Given the description of an element on the screen output the (x, y) to click on. 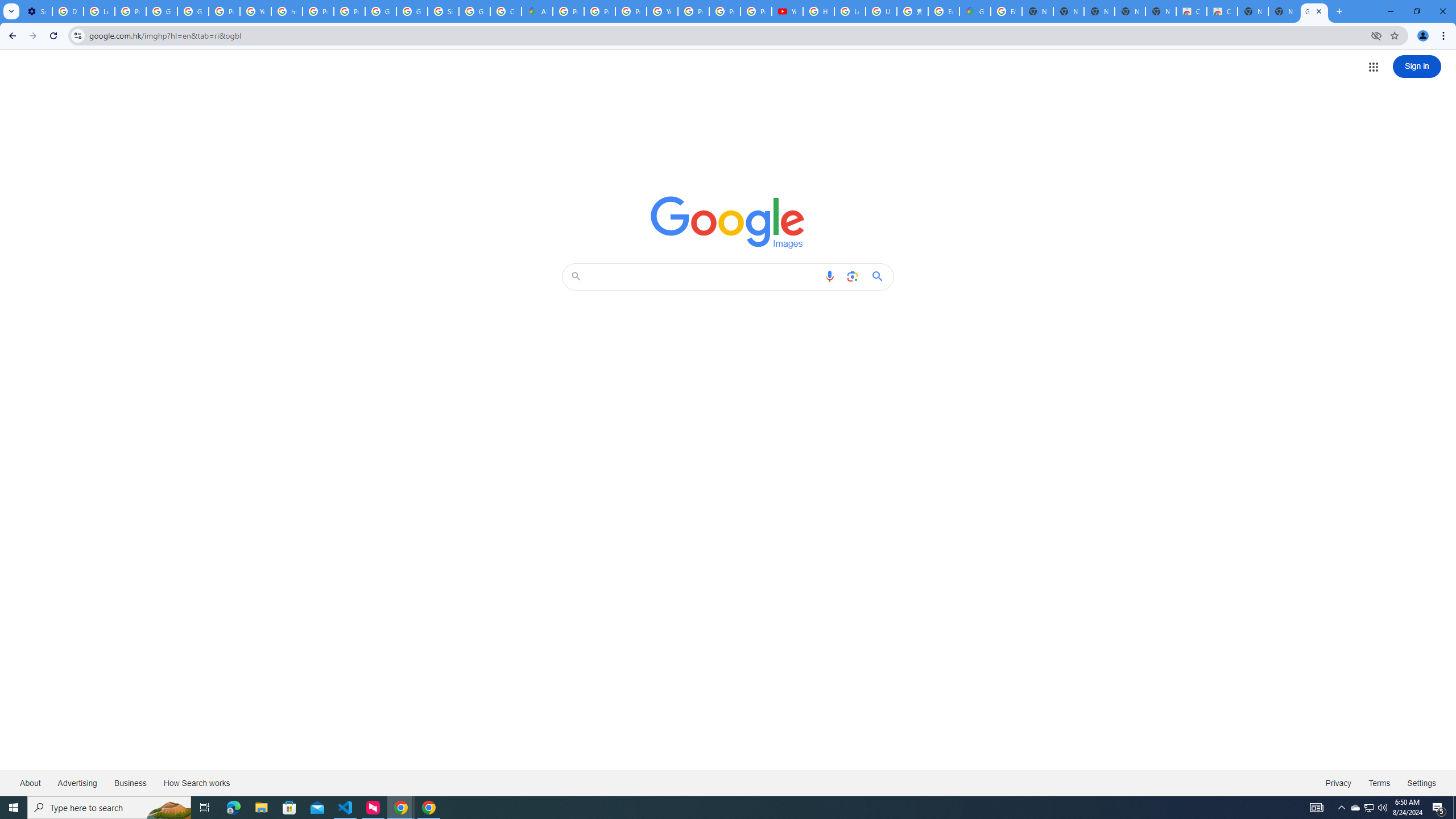
Google Maps (974, 11)
Privacy Help Center - Policies Help (631, 11)
YouTube (255, 11)
Settings - On startup (36, 11)
